Given the description of an element on the screen output the (x, y) to click on. 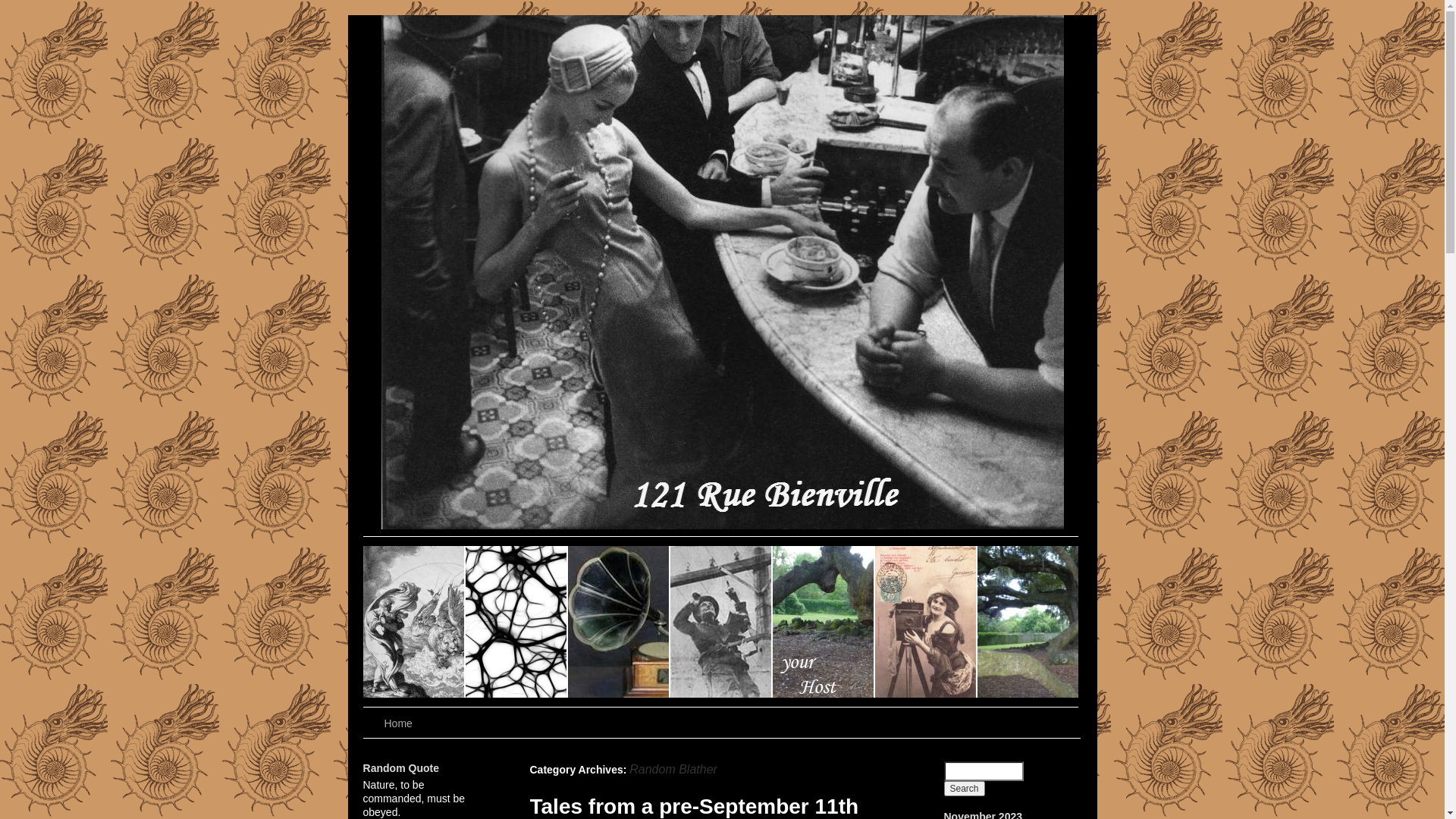
slidingdoor Element type: text (413, 621)
Search Element type: text (963, 788)
slidingdoor Element type: text (1026, 621)
slidingdoor Element type: text (618, 621)
Home Element type: text (399, 723)
slidingdoor Element type: text (926, 621)
slidingdoor Element type: text (822, 621)
slidingdoor Element type: text (721, 621)
slidingdoor Element type: text (516, 621)
